Given the description of an element on the screen output the (x, y) to click on. 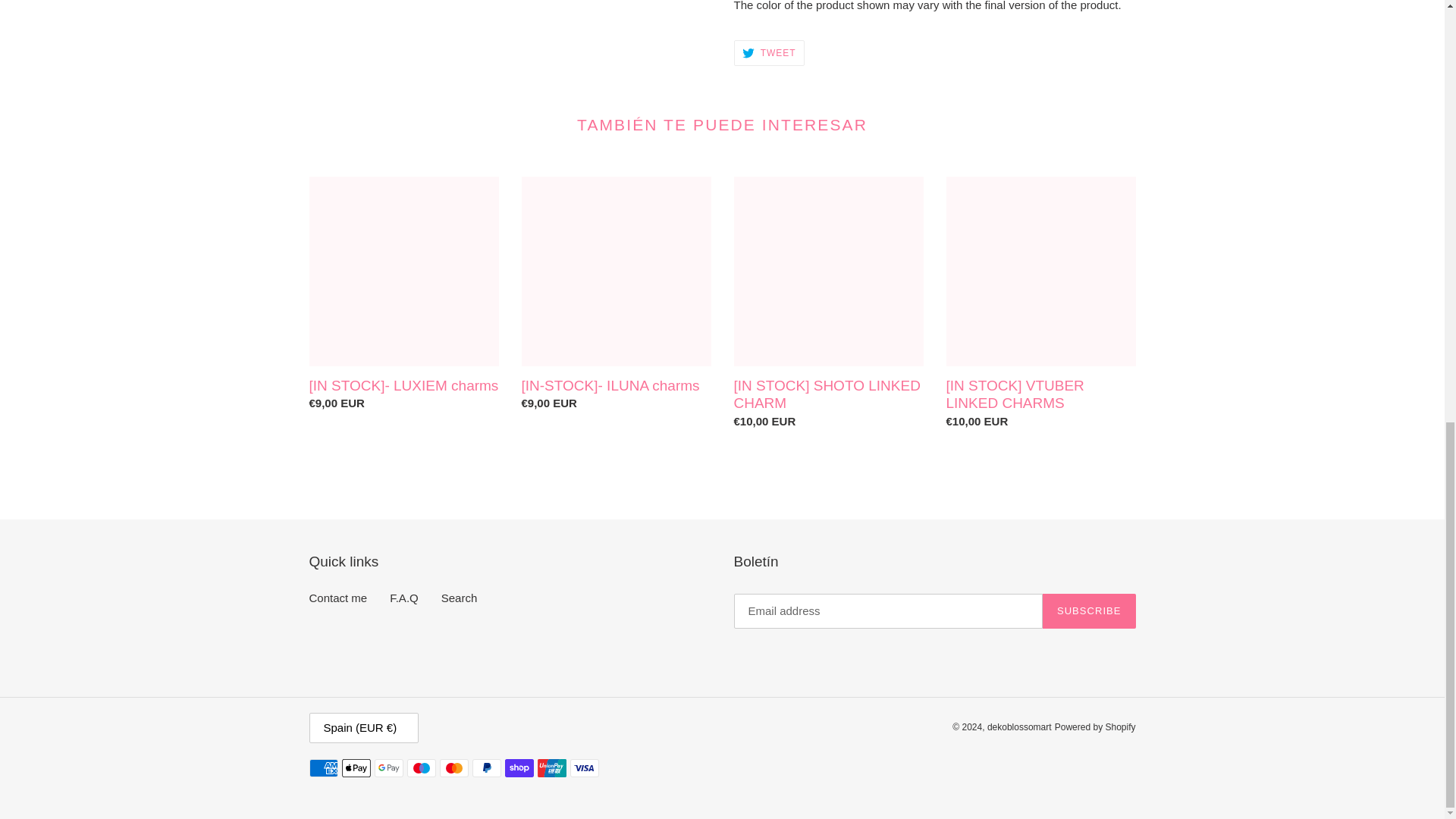
Contact me (338, 597)
SUBSCRIBE (1088, 610)
F.A.Q (404, 597)
Search (769, 53)
